Given the description of an element on the screen output the (x, y) to click on. 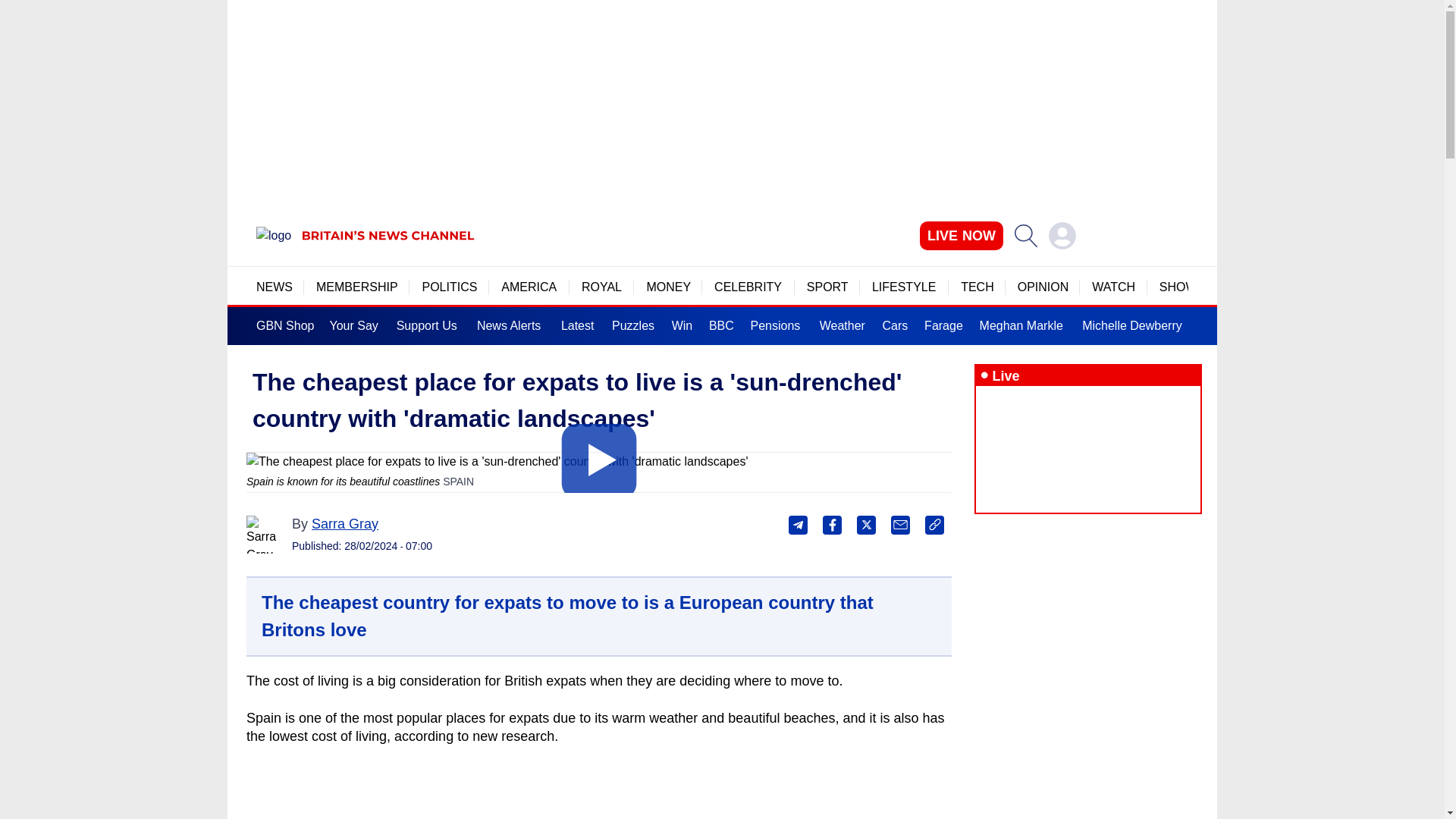
Sarra Gray (264, 534)
Copy this link to clipboard (933, 524)
MEMBERSHIP (356, 286)
LIVE (961, 235)
GBN Britain's News Channel (273, 235)
Sarra Gray (344, 523)
POLITICS (449, 286)
NEWS (274, 286)
AMERICA (528, 286)
Search (1025, 235)
